Given the description of an element on the screen output the (x, y) to click on. 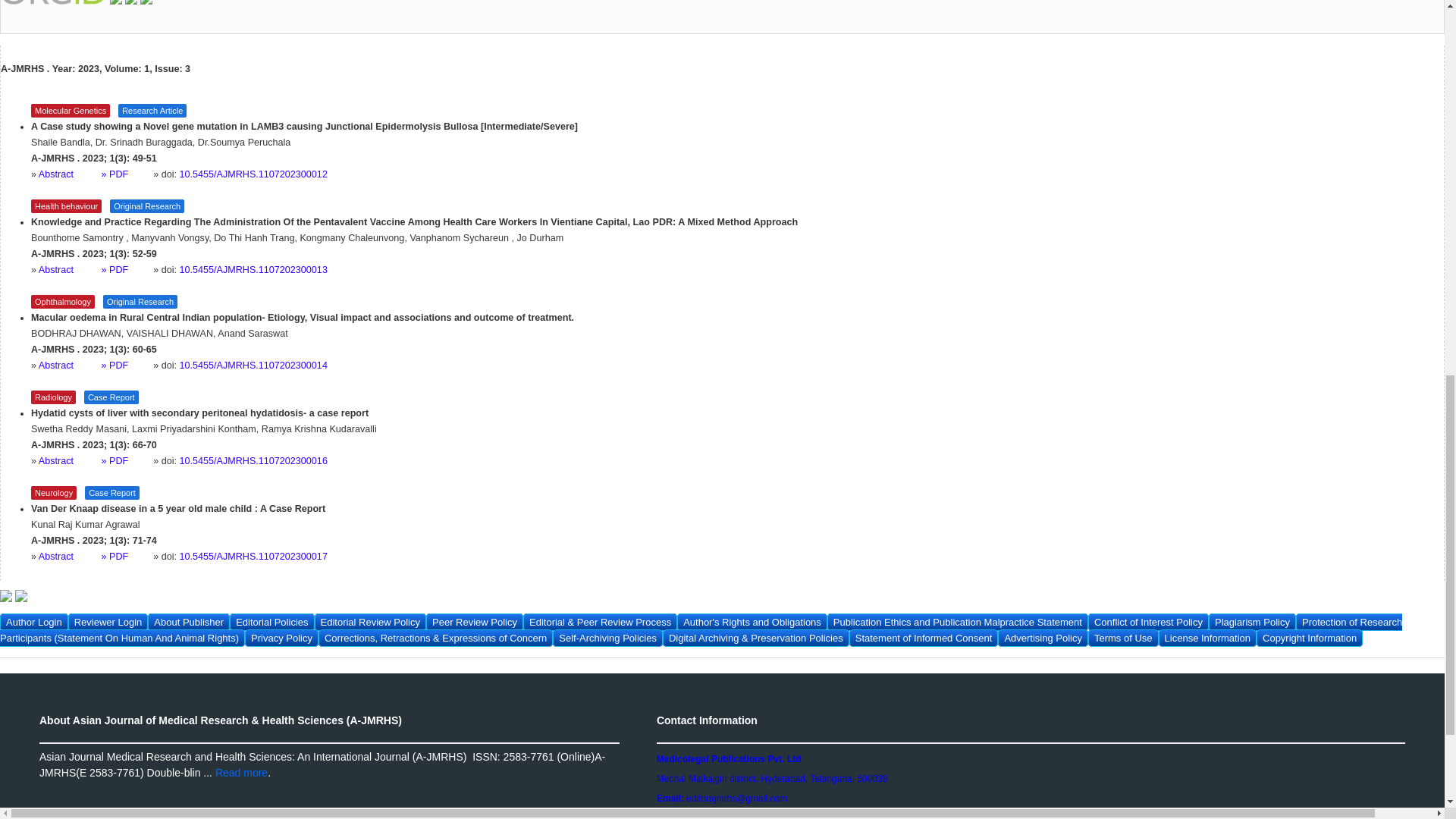
Abstract (70, 269)
Abstract (70, 460)
Abstract (70, 365)
Abstract (70, 556)
Abstract (70, 173)
